Given the description of an element on the screen output the (x, y) to click on. 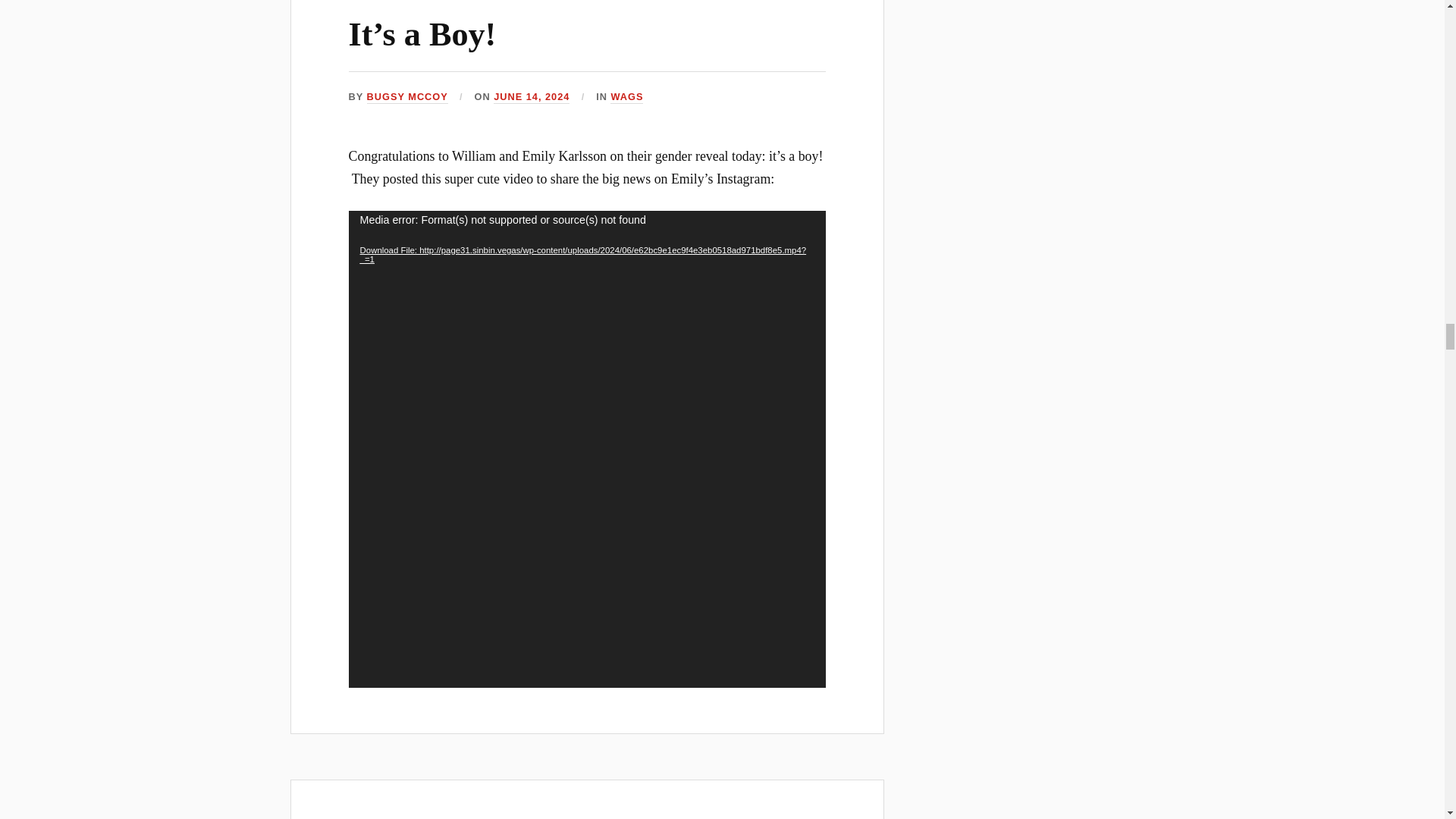
Posts by Bugsy McCoy (407, 97)
JUNE 14, 2024 (531, 97)
WAGS (626, 97)
BUGSY MCCOY (407, 97)
